Given the description of an element on the screen output the (x, y) to click on. 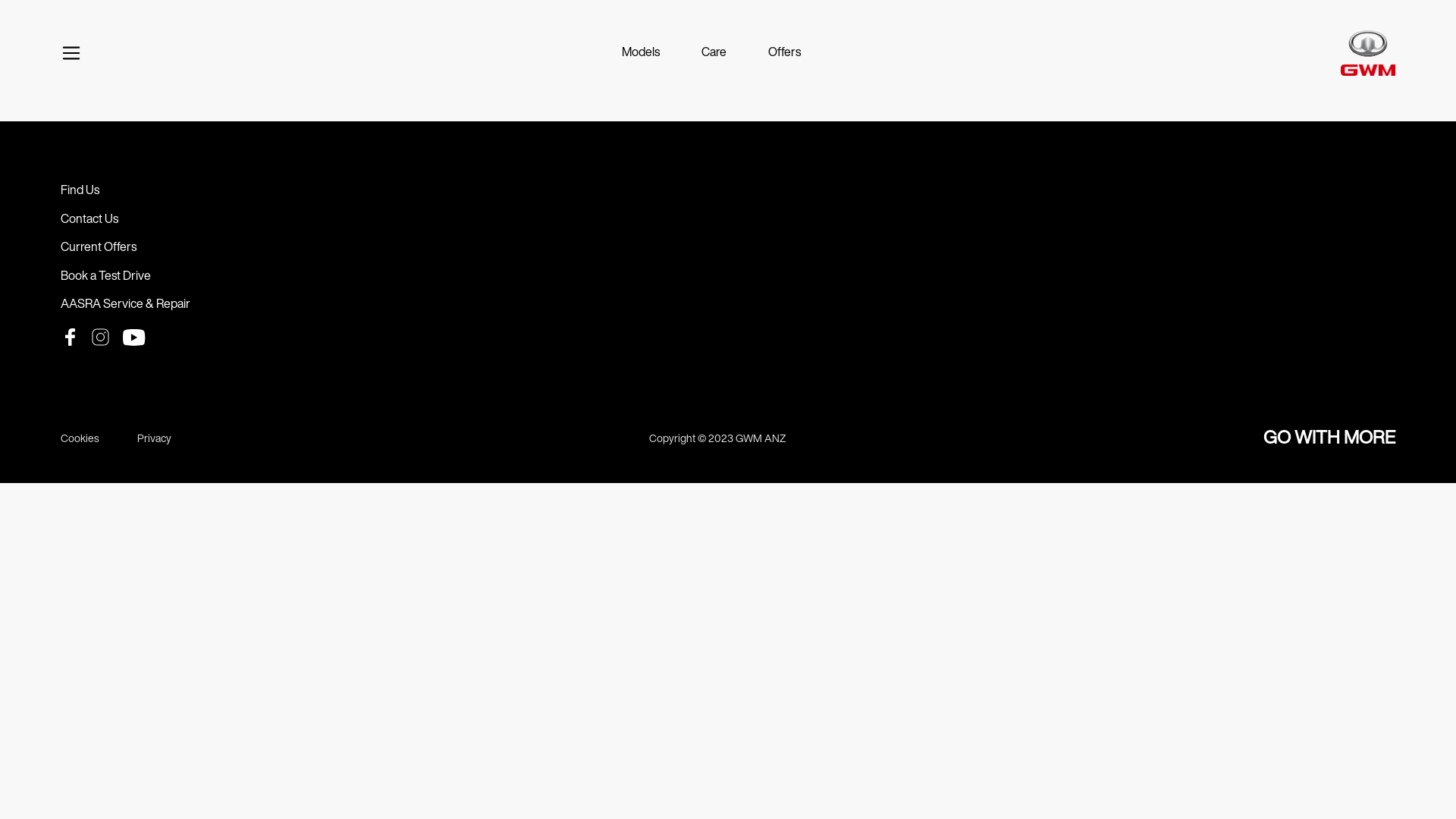
Contact Us Element type: text (89, 219)
Current Offers Element type: text (98, 247)
Care Element type: text (713, 52)
Models Element type: text (640, 52)
Book a Test Drive Element type: text (105, 276)
Privacy Element type: text (154, 439)
Offers Element type: text (784, 52)
Cookies Element type: text (79, 439)
AASRA Service & Repair Element type: text (125, 304)
Find Us Element type: text (79, 191)
